Given the description of an element on the screen output the (x, y) to click on. 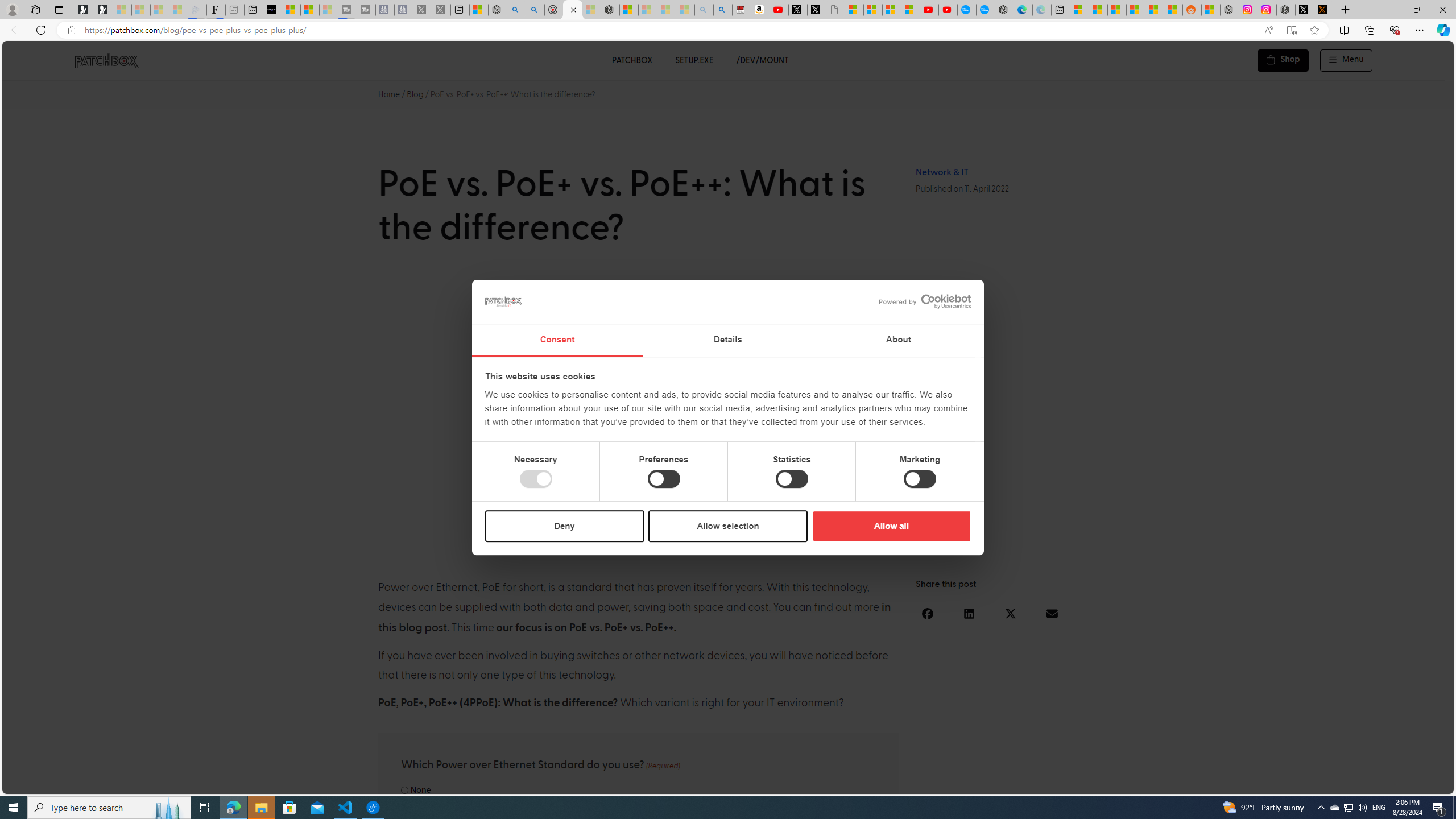
About (898, 340)
YouTube Kids - An App Created for Kids to Explore Content (947, 9)
What's the best AI voice generator? - voice.ai (271, 9)
Menu Off-Canvas (1346, 60)
None (403, 790)
Microsoft account | Microsoft Account Privacy Settings (1079, 9)
Streaming Coverage | T3 - Sleeping (347, 9)
Share on linkedin (968, 613)
Nordace - Nordace Siena Is Not An Ordinary Backpack (609, 9)
poe - Search (515, 9)
Deny (564, 525)
Shanghai, China hourly forecast | Microsoft Weather (1116, 9)
Share on x-twitter (1010, 613)
